Given the description of an element on the screen output the (x, y) to click on. 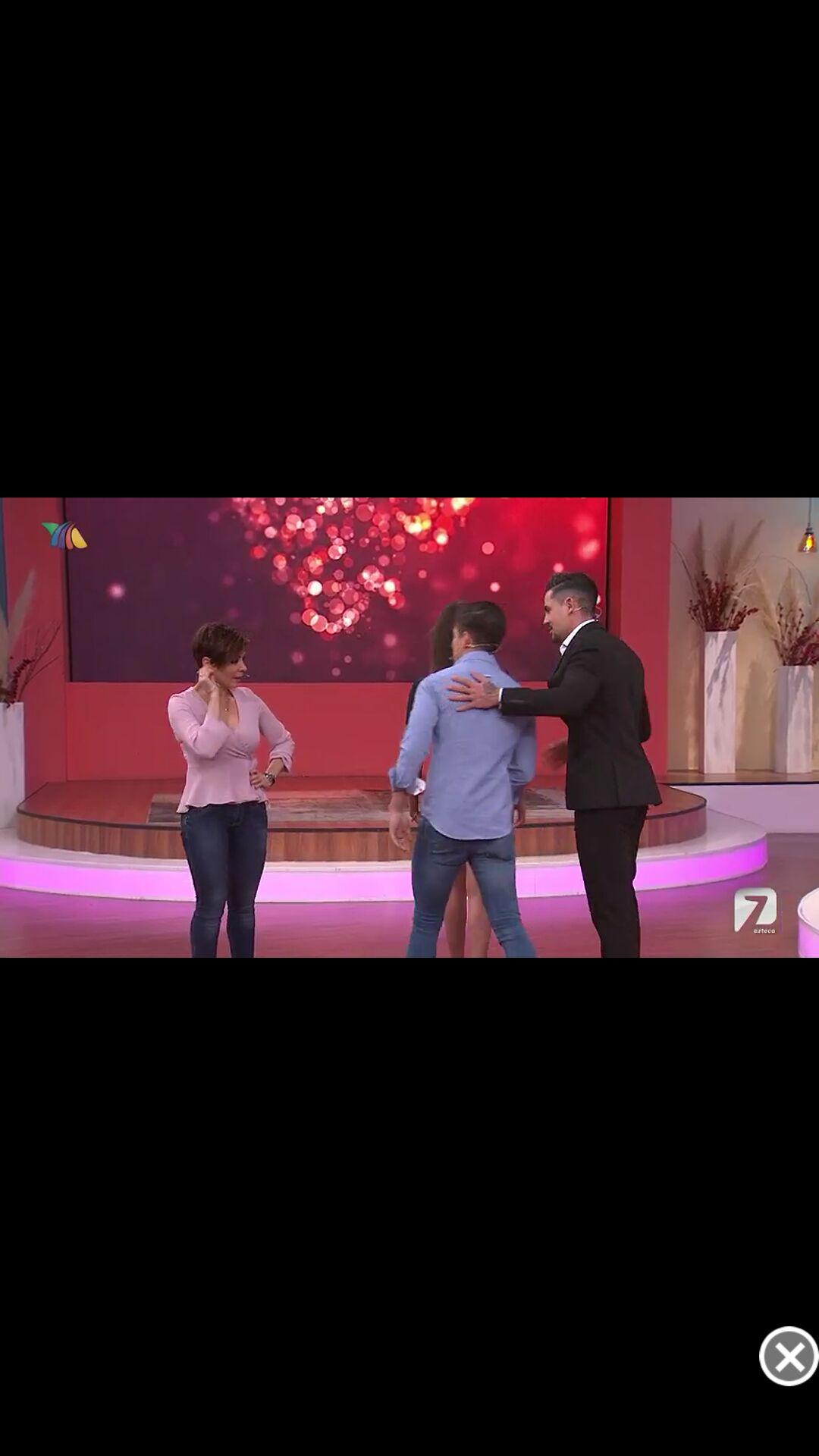
close screen (789, 1356)
